Given the description of an element on the screen output the (x, y) to click on. 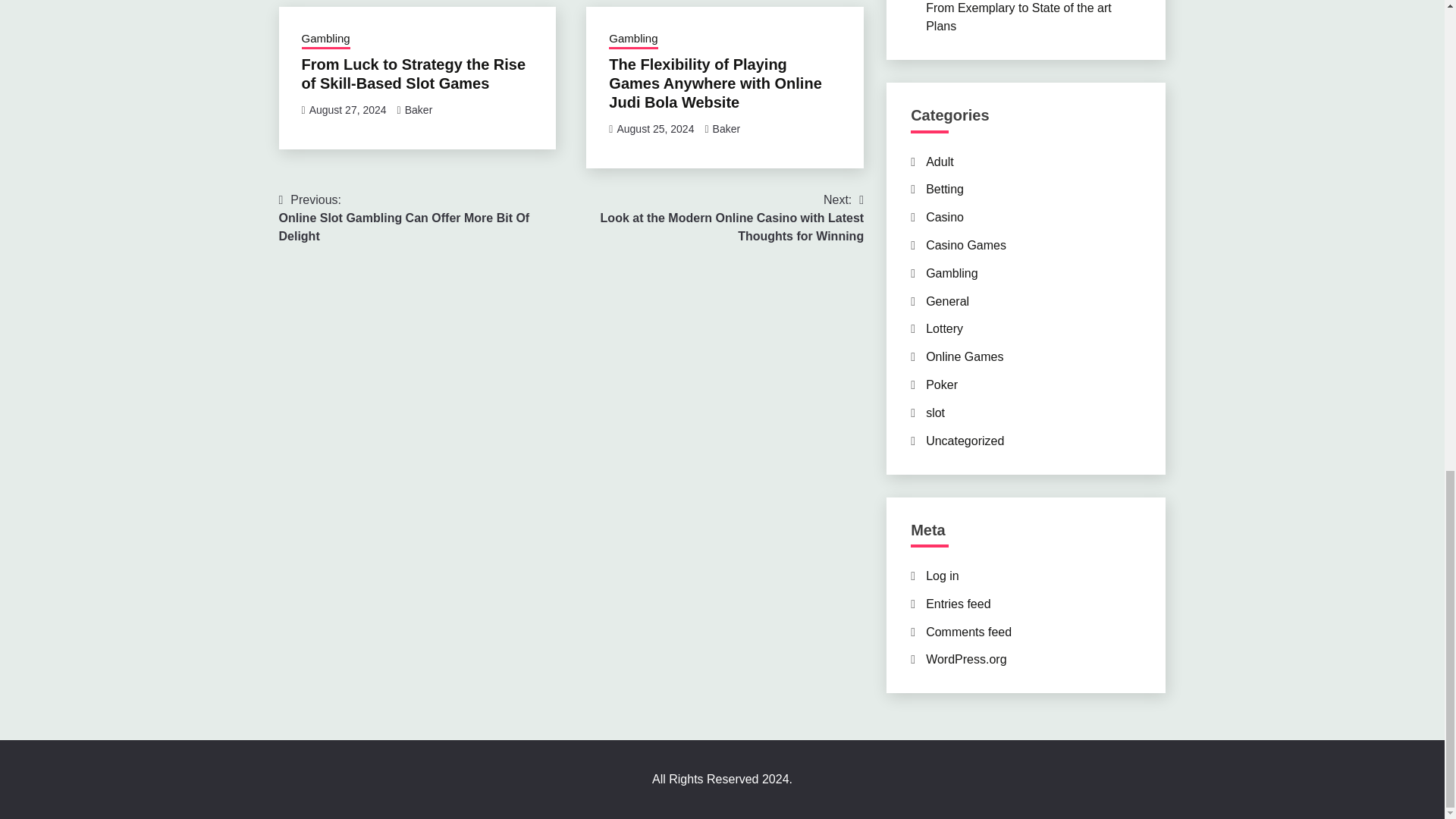
Gambling (325, 39)
Baker (727, 128)
August 27, 2024 (347, 110)
Betting (425, 217)
From Luck to Strategy the Rise of Skill-Based Slot Games (944, 188)
August 25, 2024 (413, 73)
Adult (654, 128)
Gambling (939, 161)
